Given the description of an element on the screen output the (x, y) to click on. 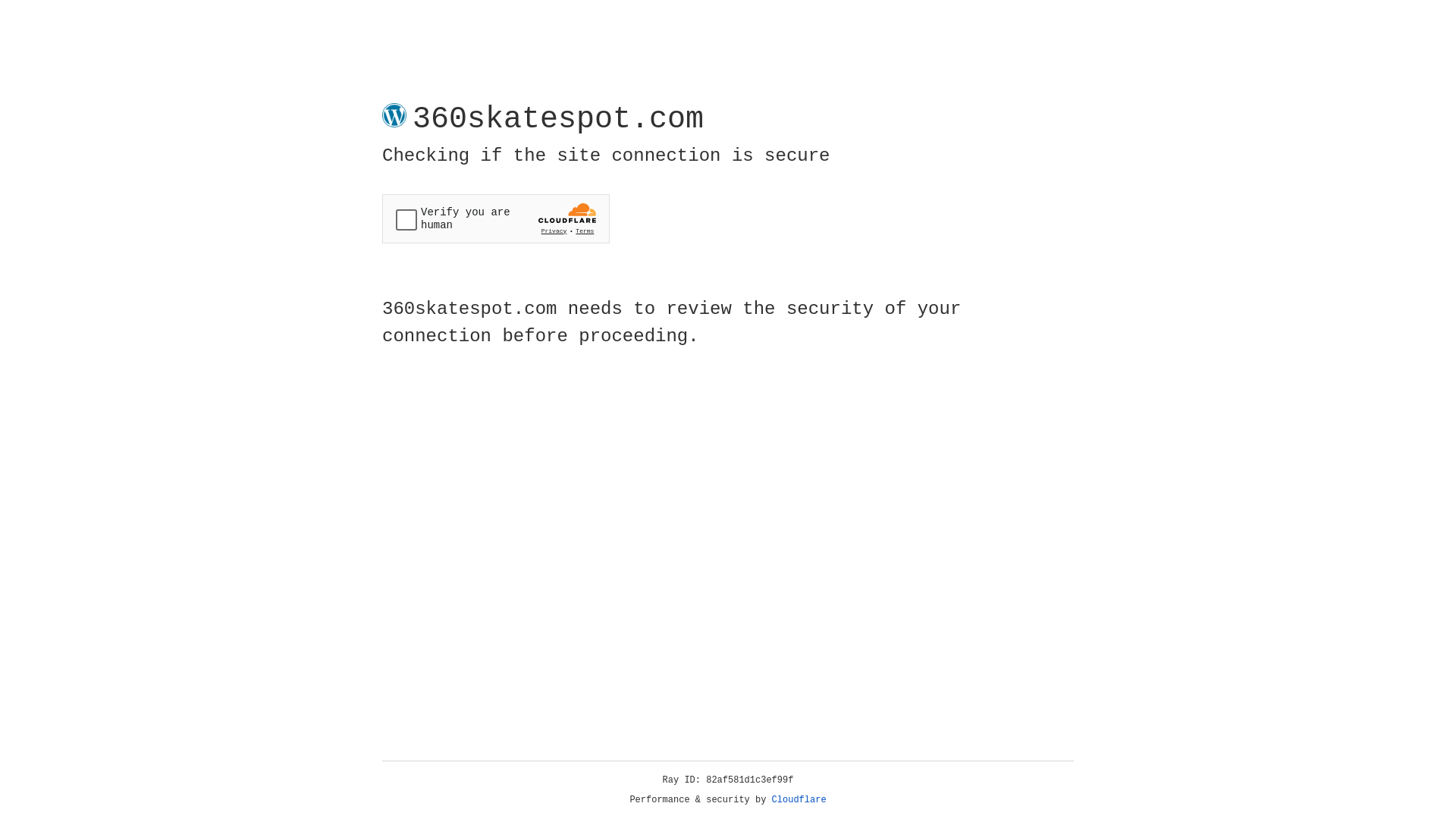
Cloudflare Element type: text (798, 799)
Widget containing a Cloudflare security challenge Element type: hover (495, 218)
